Given the description of an element on the screen output the (x, y) to click on. 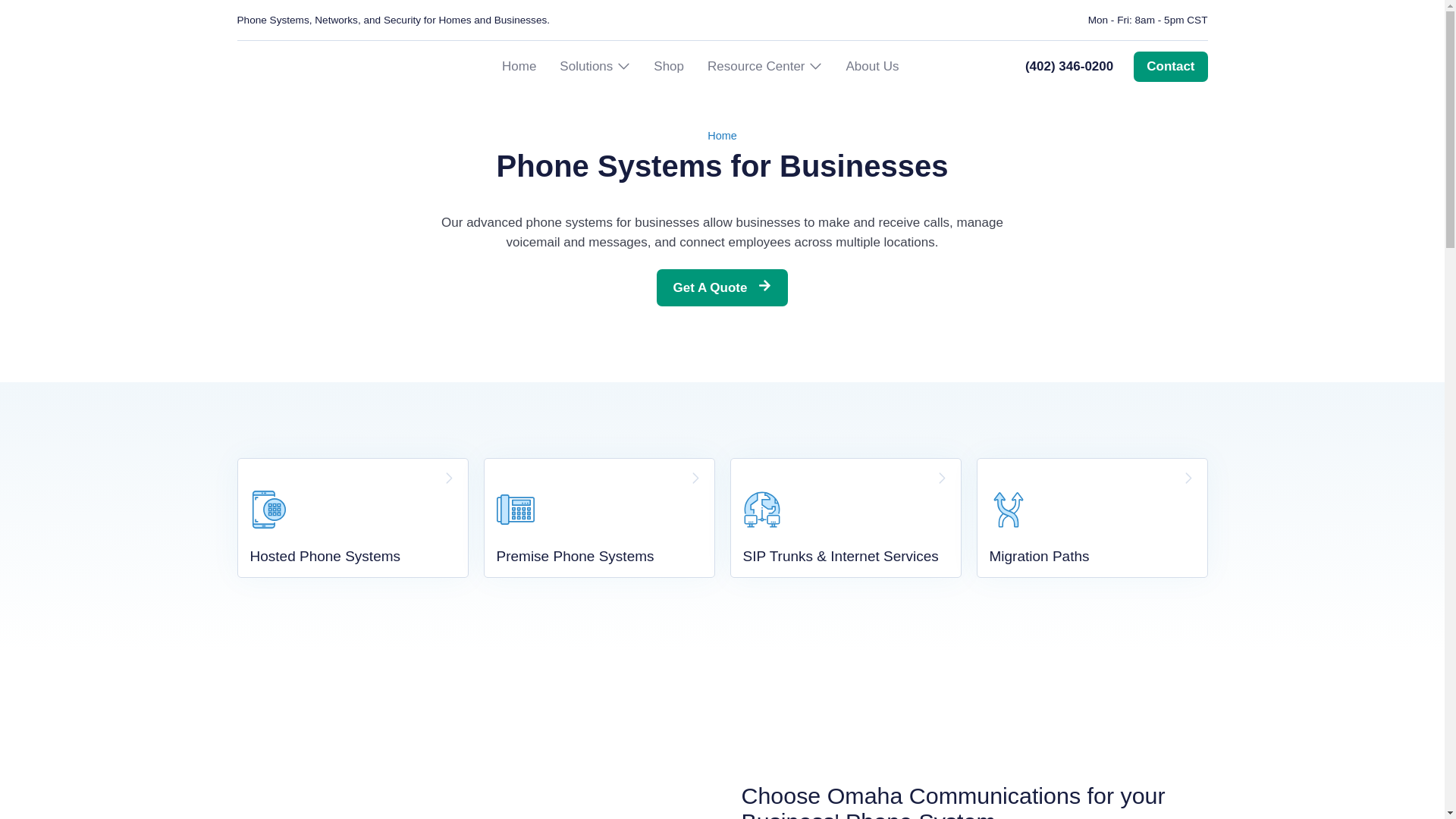
Resource Center (756, 66)
Solutions (585, 66)
Migration Paths (1092, 517)
Home (518, 66)
Hosted Phone System Services (351, 517)
Premise Phone System Services (598, 517)
Shop (668, 66)
